Given the description of an element on the screen output the (x, y) to click on. 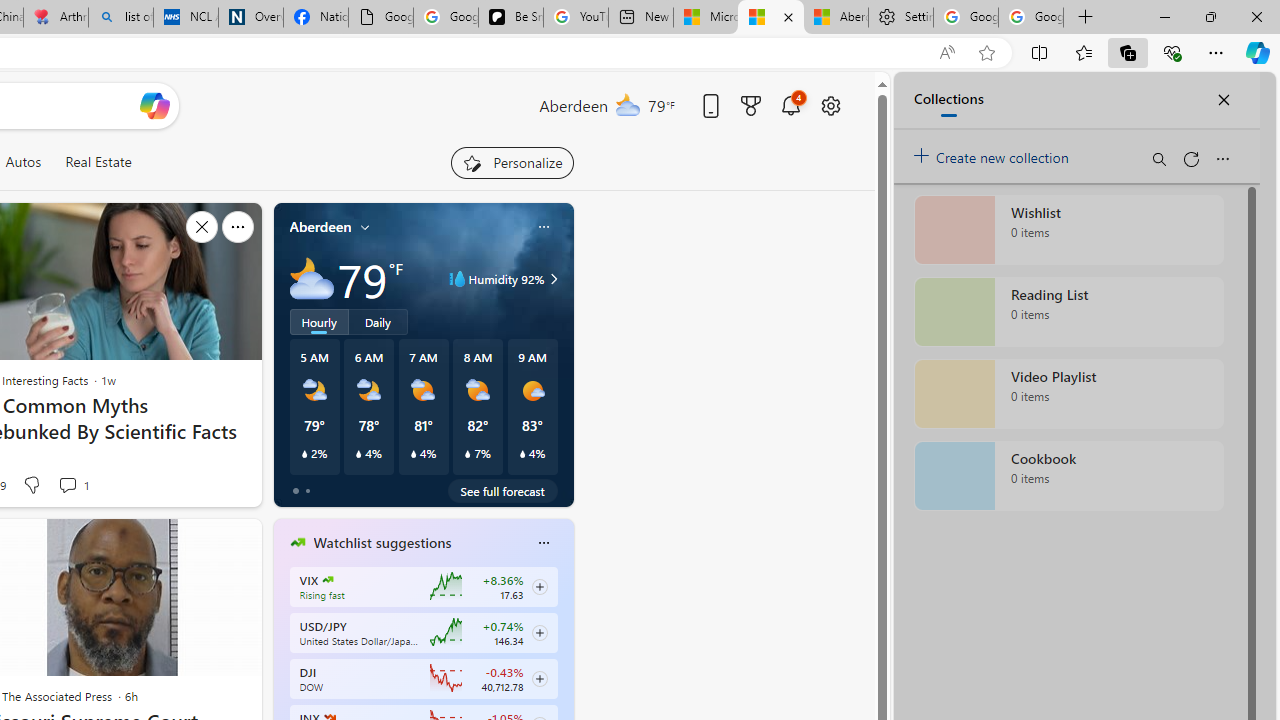
Watchlist suggestions (382, 543)
Personalize your feed" (511, 162)
